Given the description of an element on the screen output the (x, y) to click on. 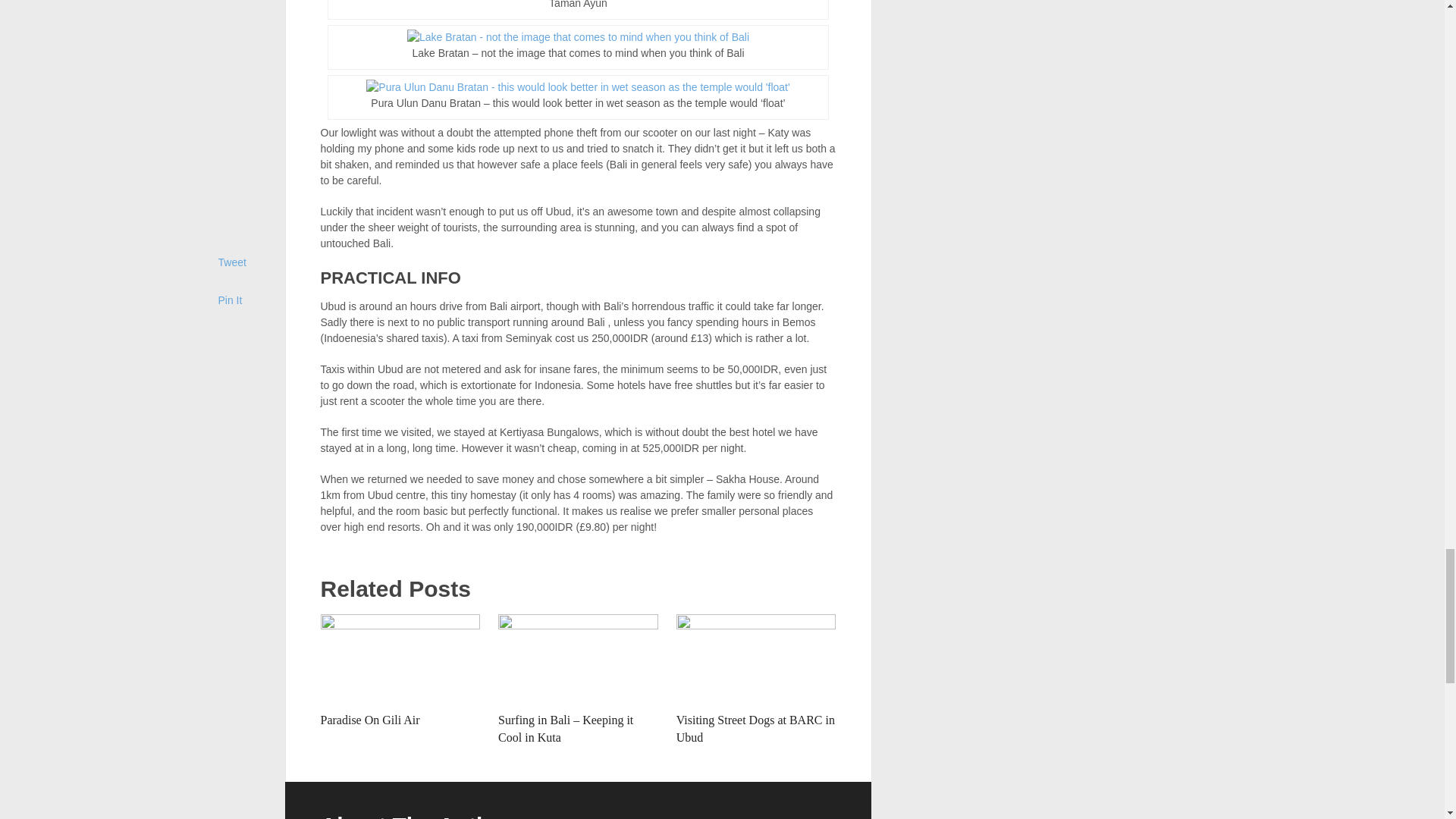
Paradise On Gili Air (369, 719)
Visiting Street Dogs at BARC in Ubud (755, 727)
Visiting Street Dogs at BARC in Ubud (756, 659)
Paradise On Gili Air (400, 659)
